Given the description of an element on the screen output the (x, y) to click on. 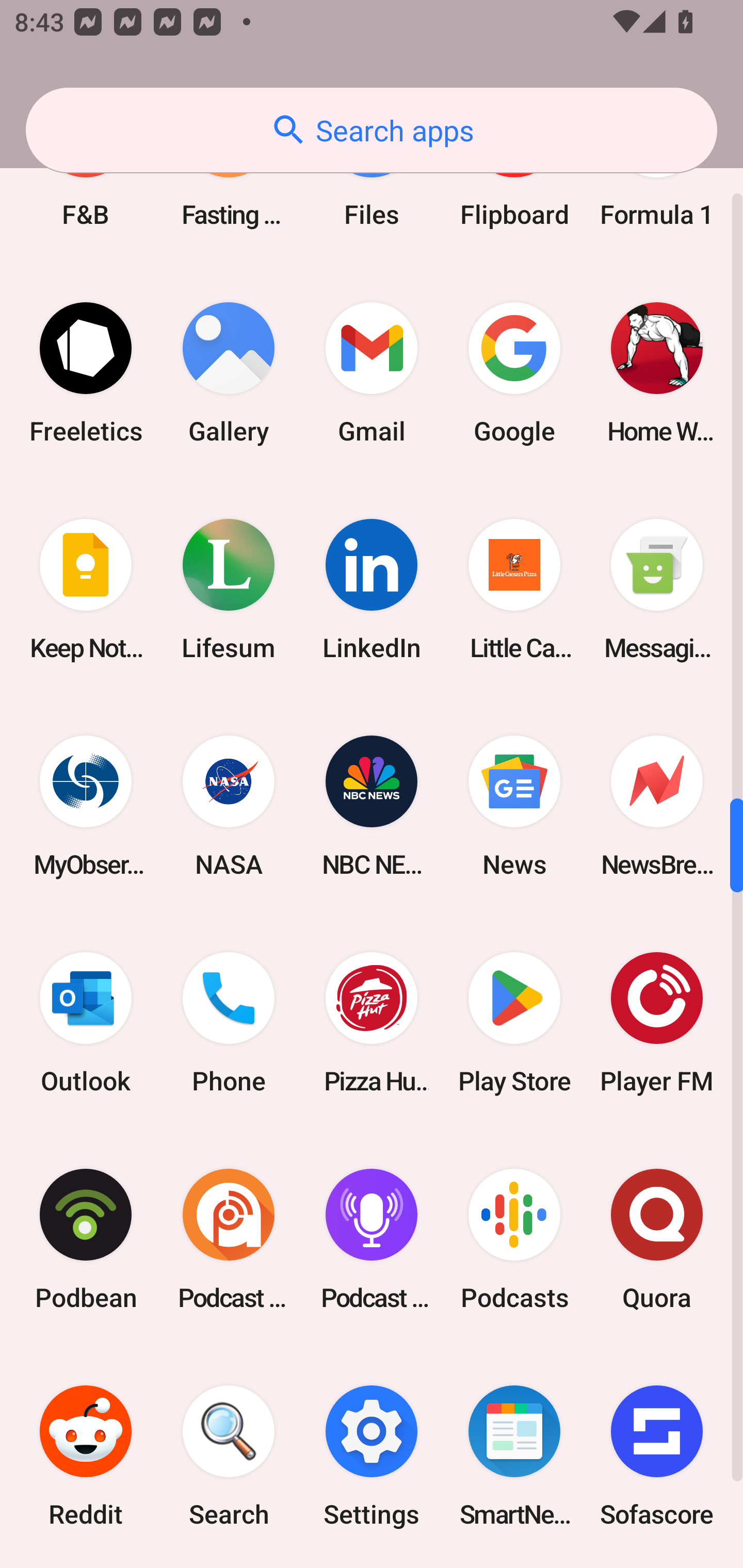
  Search apps (371, 130)
Freeletics (85, 372)
Gallery (228, 372)
Gmail (371, 372)
Google (514, 372)
Home Workout (656, 372)
Keep Notes (85, 589)
Lifesum (228, 589)
LinkedIn (371, 589)
Little Caesars Pizza (514, 589)
Messaging (656, 589)
MyObservatory (85, 805)
NASA (228, 805)
NBC NEWS (371, 805)
News (514, 805)
NewsBreak (656, 805)
Outlook (85, 1022)
Phone (228, 1022)
Pizza Hut HK & Macau (371, 1022)
Play Store (514, 1022)
Player FM (656, 1022)
Podbean (85, 1239)
Podcast Addict (228, 1239)
Podcast Player (371, 1239)
Podcasts (514, 1239)
Quora (656, 1239)
Reddit (85, 1456)
Search (228, 1456)
Settings (371, 1456)
SmartNews (514, 1456)
Sofascore (656, 1456)
Spotify (85, 1566)
Superuser (228, 1566)
Tasks (371, 1566)
The Weather Channel (514, 1566)
TickTick (656, 1566)
